Given the description of an element on the screen output the (x, y) to click on. 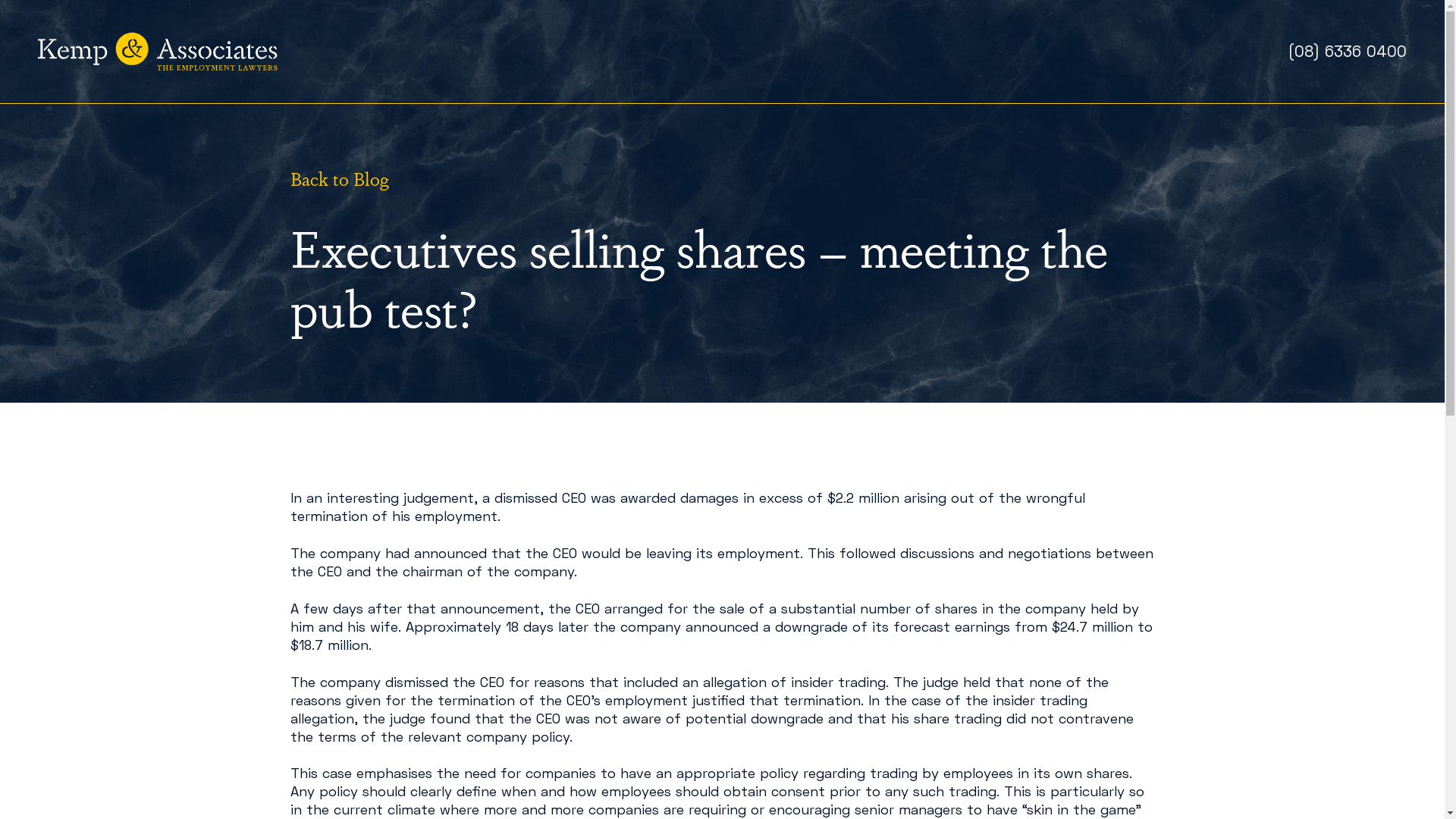
Back to Blog Element type: text (338, 177)
(08) 6336 0400 Element type: text (1346, 50)
